Given the description of an element on the screen output the (x, y) to click on. 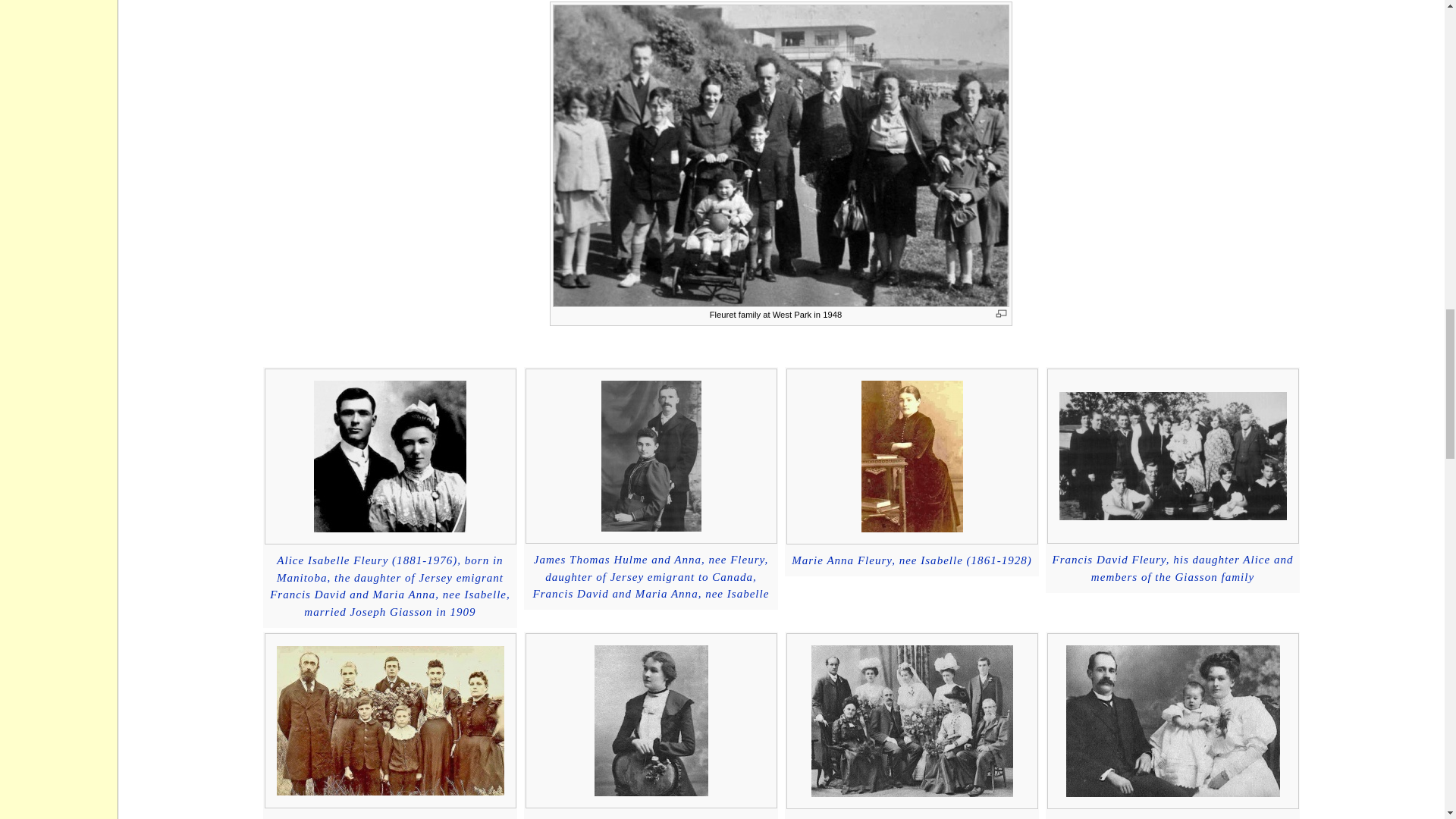
Descendants of Jean Fleury (912, 560)
Descendants of Jean Fleury (390, 586)
Descendants of Jean Fleury (1171, 568)
Descendants of Jean Fleury (651, 576)
Enlarge (1001, 313)
